Given the description of an element on the screen output the (x, y) to click on. 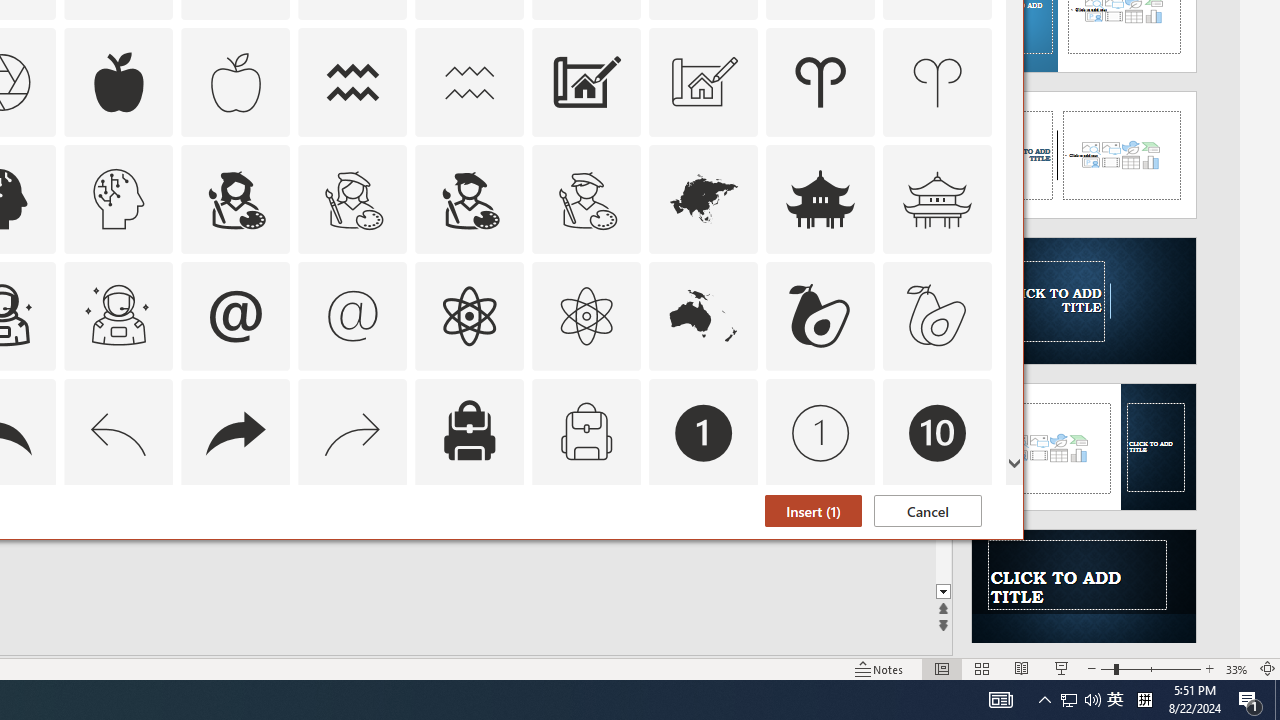
AutomationID: Icons_Aquarius_M (469, 82)
AutomationID: Icons_Badge6 (118, 550)
AutomationID: Icons_Backpack (469, 432)
AutomationID: Icons_At_M (353, 316)
AutomationID: Icons_Badge1 (703, 432)
AutomationID: Icons_Backpack_M (586, 432)
Thumbnail (977, 511)
